Given the description of an element on the screen output the (x, y) to click on. 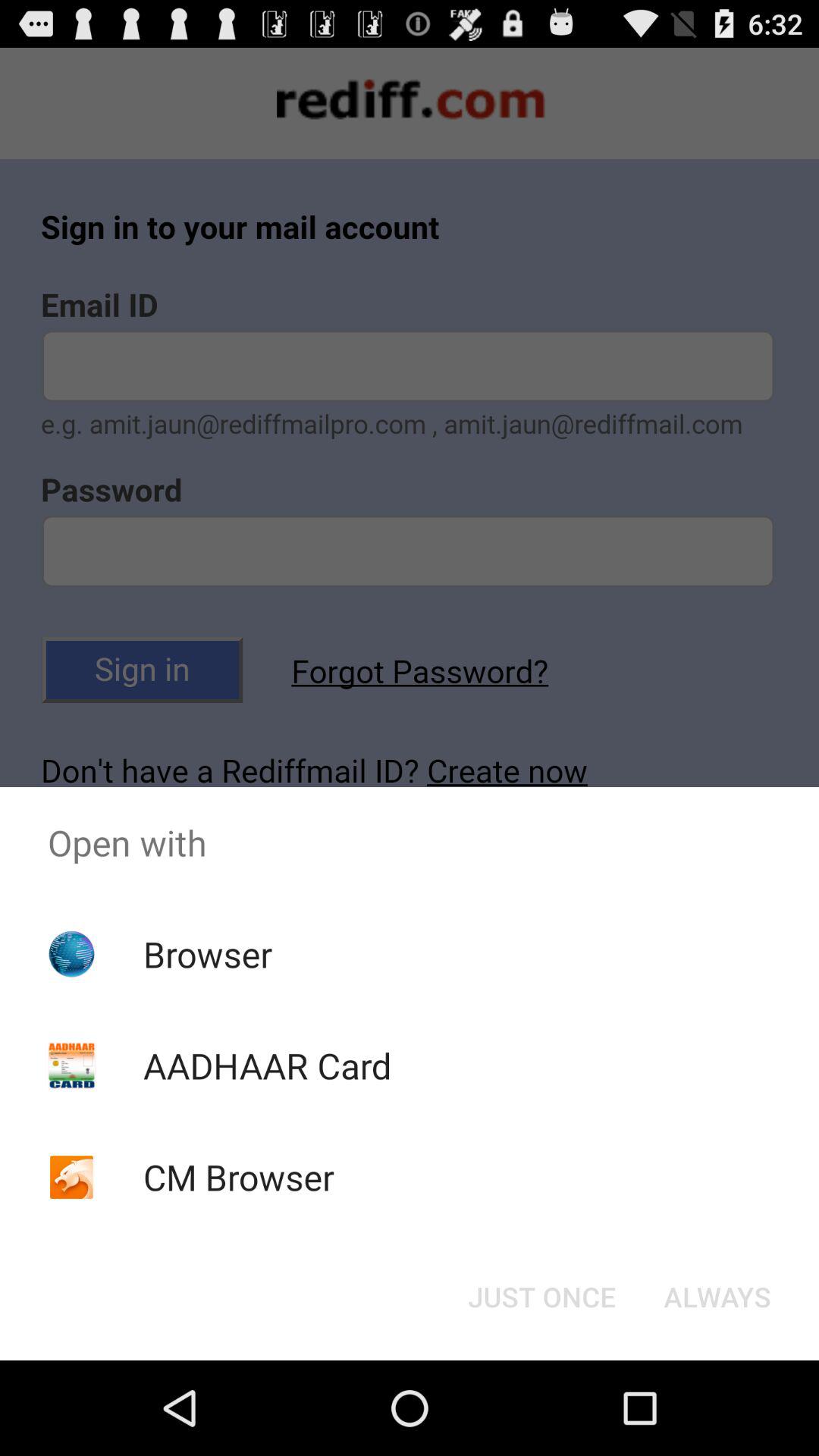
swipe to the cm browser app (238, 1176)
